Given the description of an element on the screen output the (x, y) to click on. 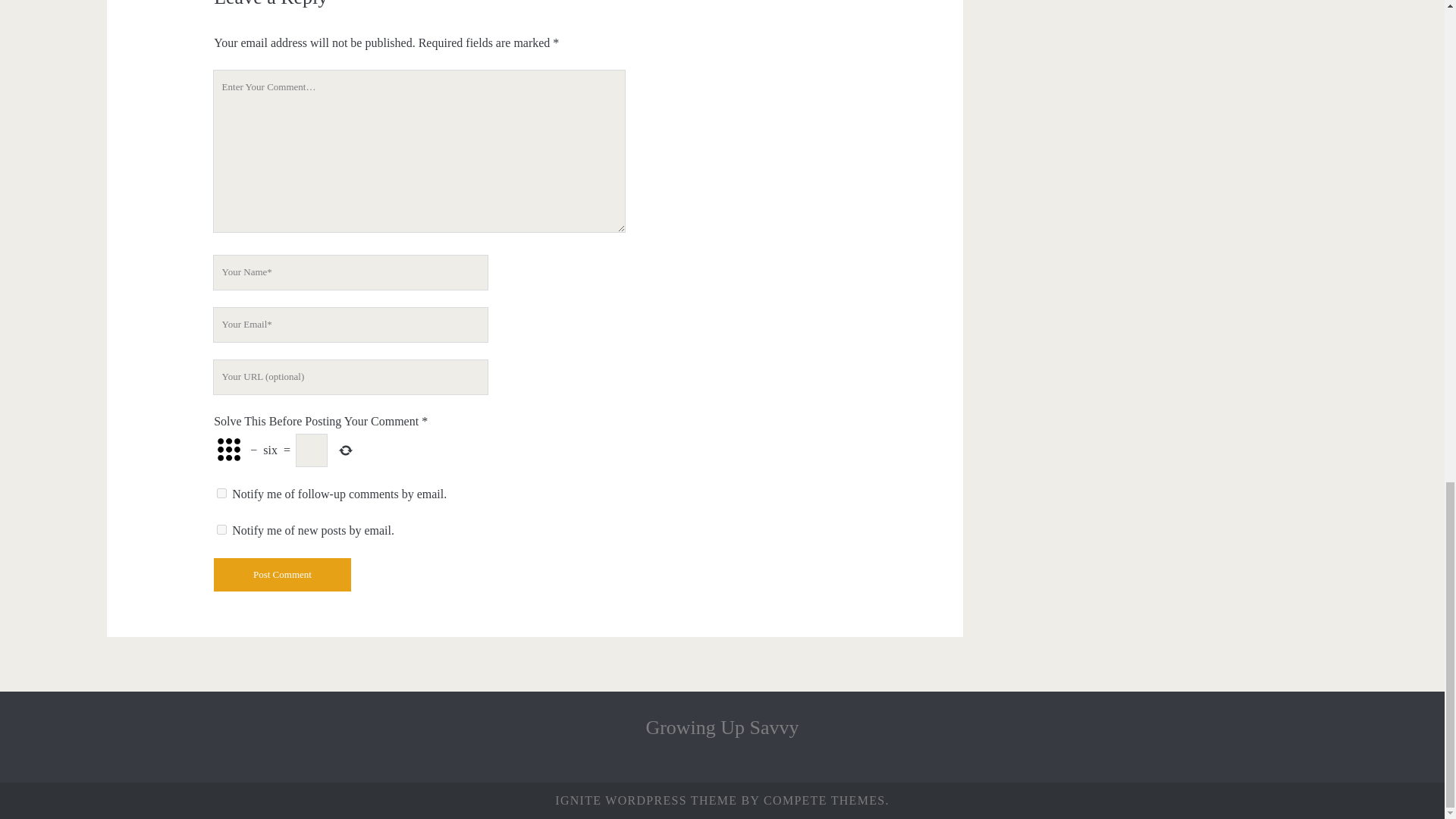
subscribe (221, 492)
Post Comment (282, 574)
subscribe (221, 529)
